Given the description of an element on the screen output the (x, y) to click on. 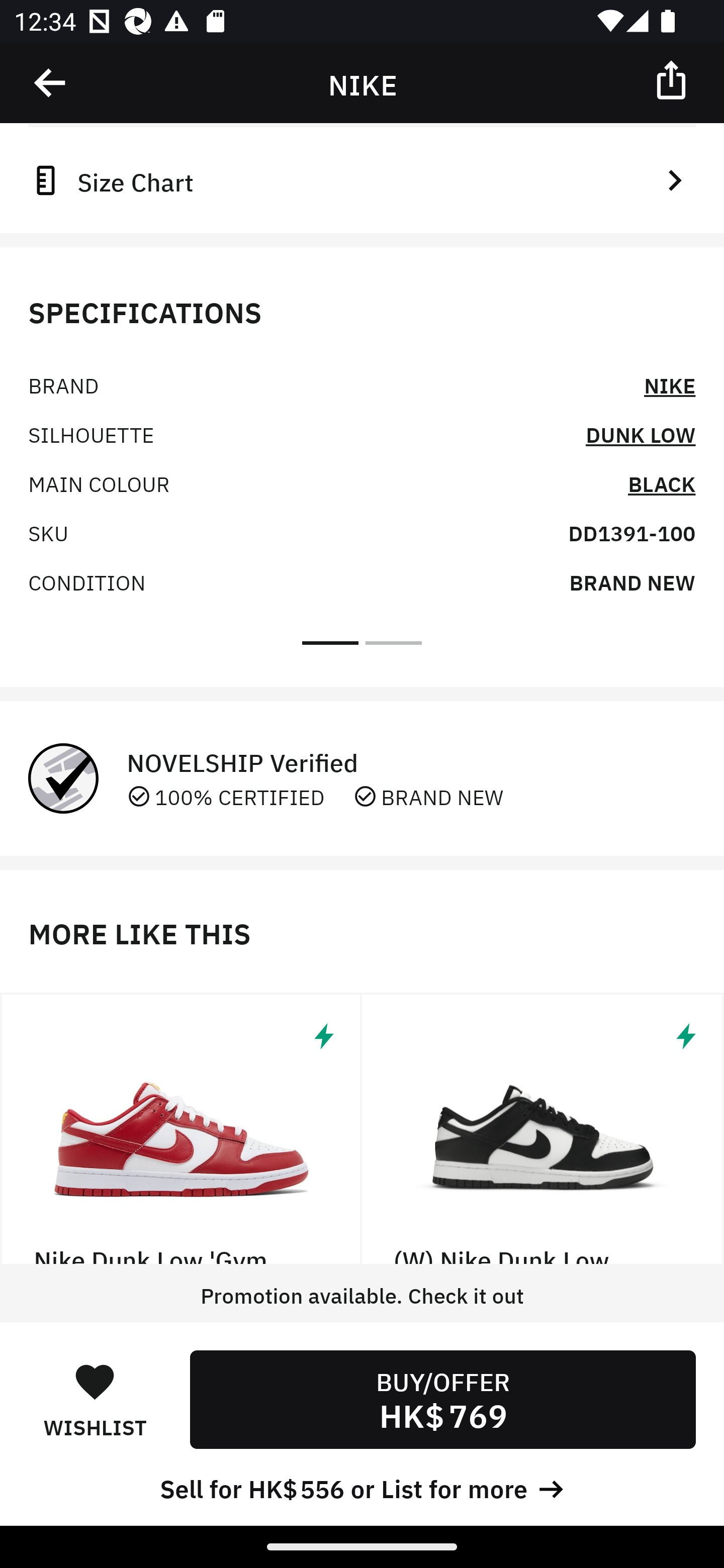
 (50, 83)
 (672, 79)
Size Chart  (361, 180)
NIKE (669, 383)
DUNK LOW (640, 433)
BLACK (661, 482)
DD1391-100 (631, 532)
BRAND NEW (632, 581)
 Nike Dunk Low 'Gym Red' [also worn by BTS Suga] (181, 1128)
 (W) Nike Dunk Low 'Panda' 2021 (543, 1128)
BUY/OFFER HK$ 769 (442, 1399)
󰋑 (94, 1380)
Sell for HK$ 556 or List for more (361, 1486)
